Given the description of an element on the screen output the (x, y) to click on. 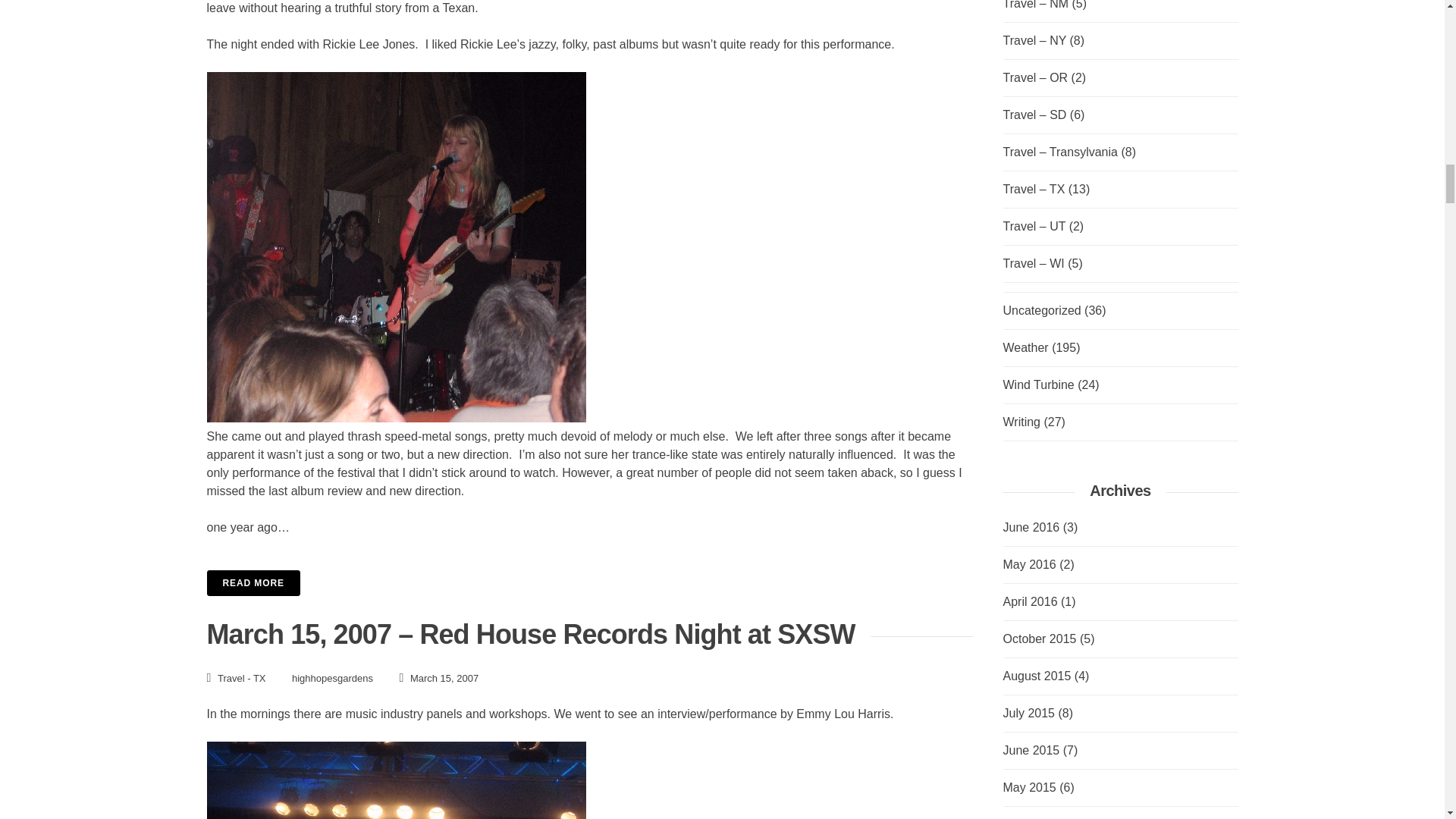
Travel - TX (241, 677)
READ MORE (252, 583)
READ MORE (589, 583)
